Given the description of an element on the screen output the (x, y) to click on. 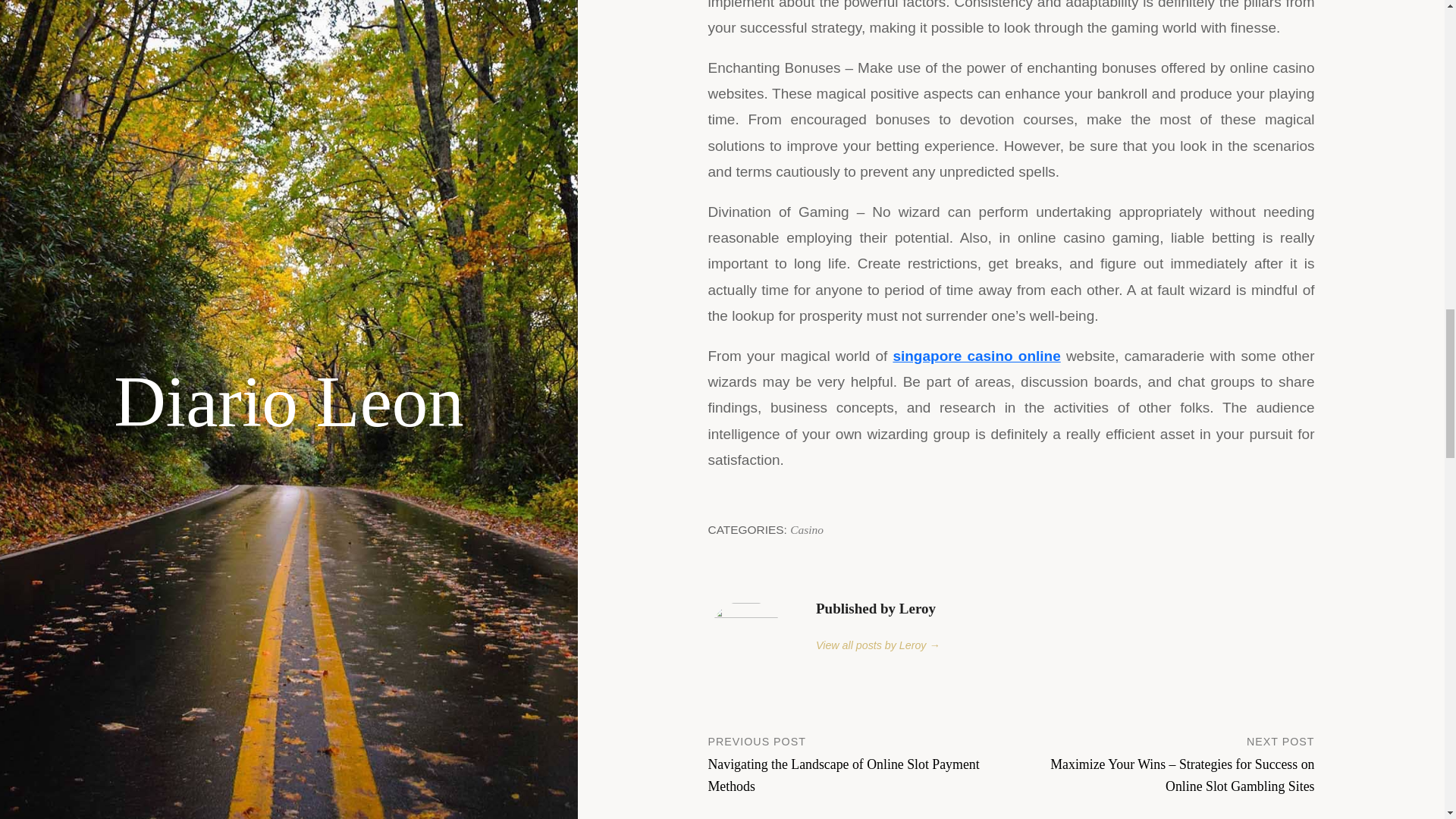
singapore casino online (975, 355)
Casino (807, 529)
